Given the description of an element on the screen output the (x, y) to click on. 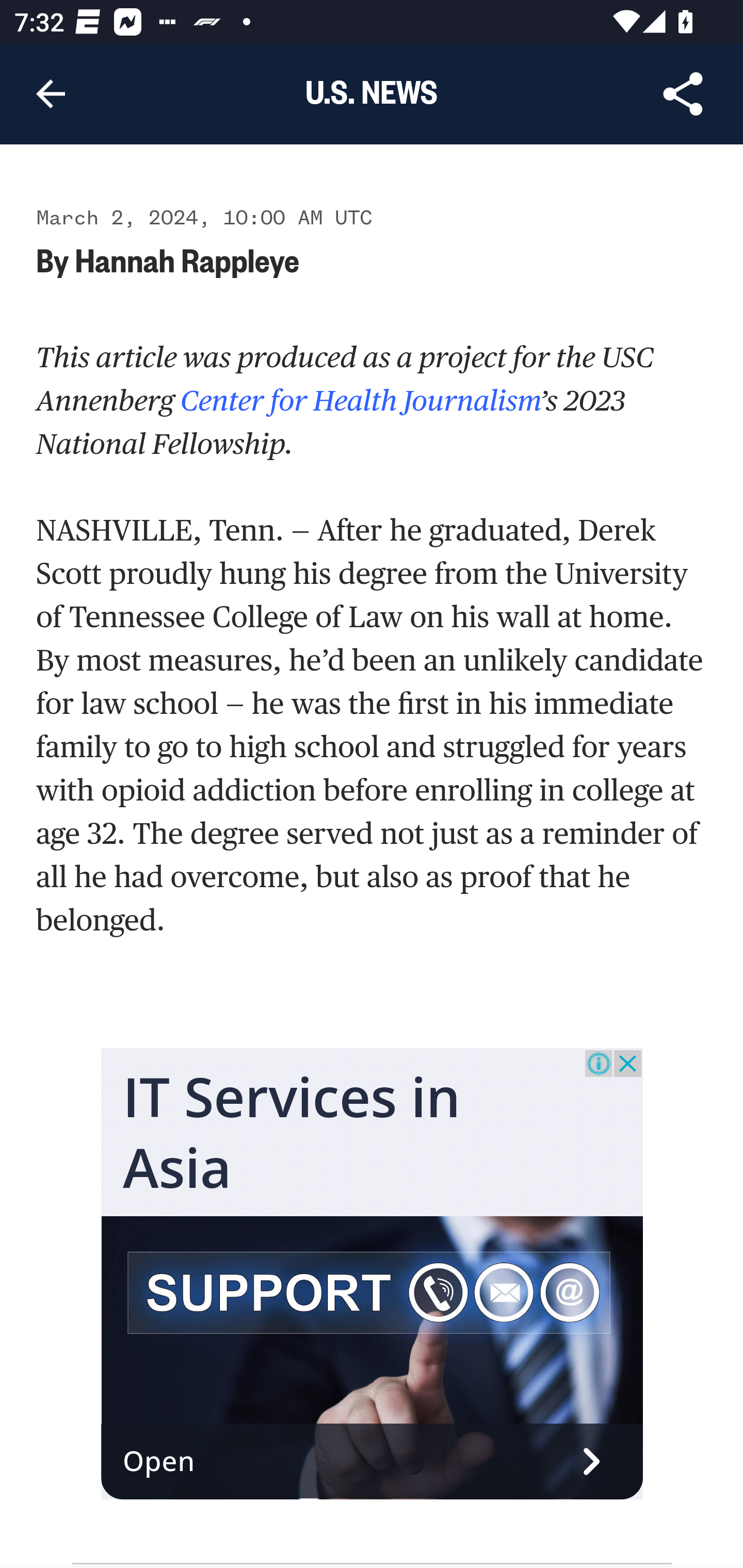
Navigate up (50, 93)
Share Article, button (683, 94)
 Center for Health Journalism (357, 400)
IT Services in Asia IT Services in Asia (292, 1132)
Open (372, 1462)
